Given the description of an element on the screen output the (x, y) to click on. 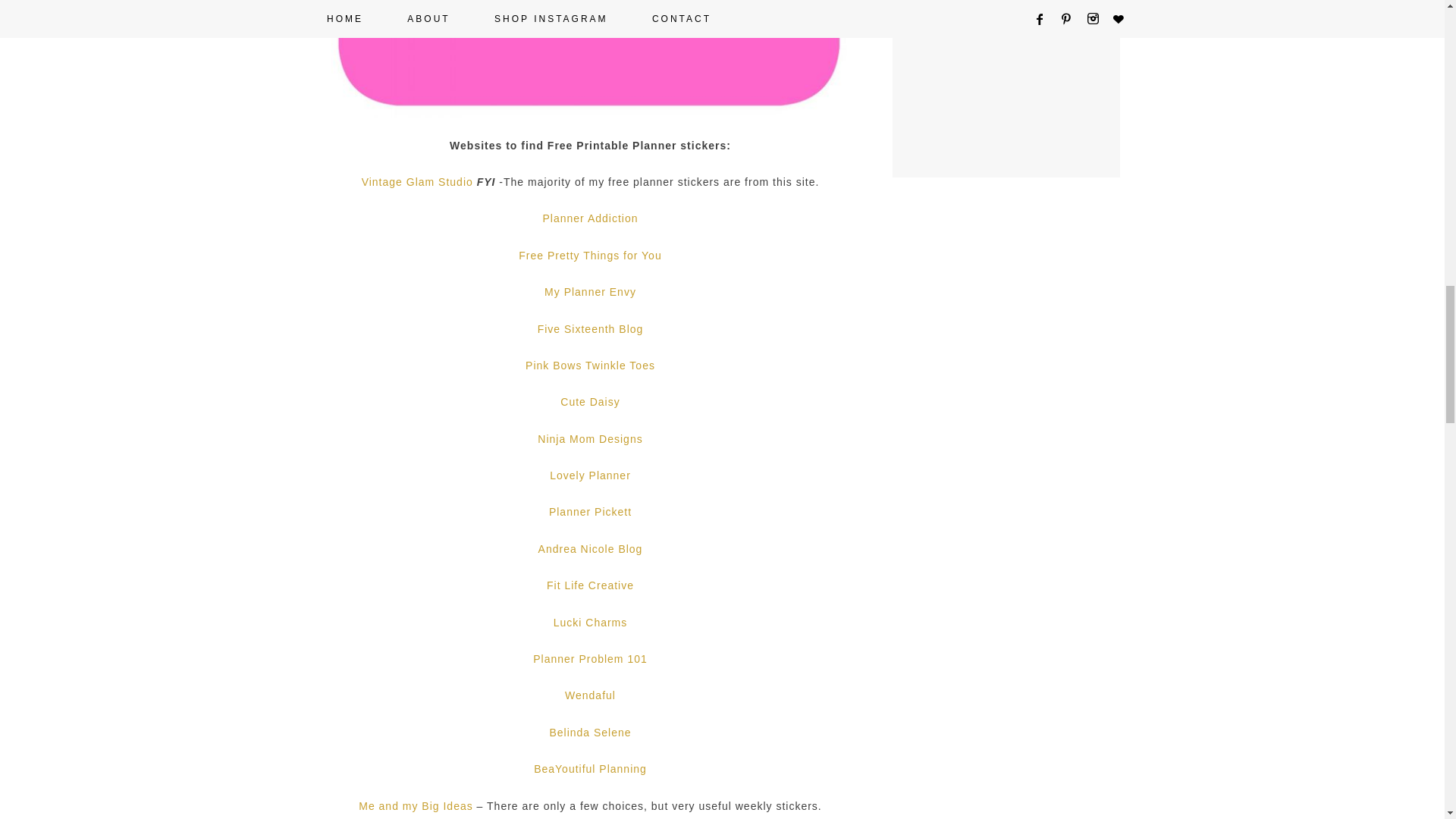
Planner Addiction (591, 218)
Andrea Nicole Blog (590, 548)
Five Sixteenth Blog (590, 328)
Planner Problem 101 (589, 658)
Pink Bows Twinkle Toes (590, 365)
Vintage Glam Studio (417, 182)
Ninja Mom Designs (589, 439)
BeaYoutiful Planning (590, 768)
Planner Pickett (589, 511)
Fit Life Creative (590, 585)
My Planner Envy (590, 291)
Free Pretty Things for You (589, 255)
Lucki Charms (590, 622)
Me and my Big Ideas (415, 806)
Cute Daisy (590, 401)
